Given the description of an element on the screen output the (x, y) to click on. 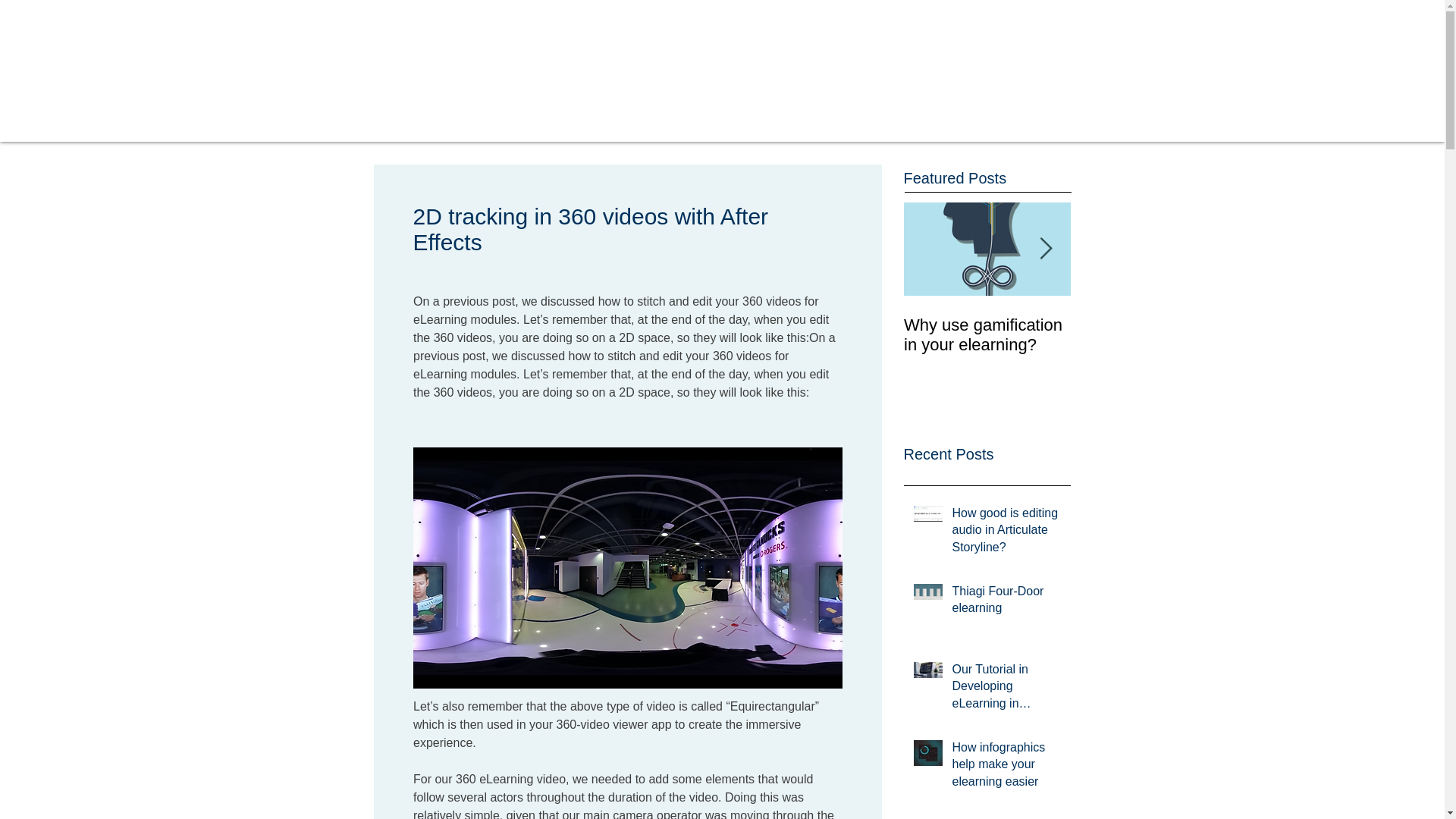
Our Tutorial in Developing eLearning in Captivate (1006, 689)
How good is editing audio in Articulate Storyline? (1006, 533)
Why use gamification in your elearning? (987, 334)
How infographics help make your elearning easier (1006, 767)
eLearning Modules on Social Media Awareness (1153, 344)
Thiagi Four-Door elearning (1006, 603)
